Given the description of an element on the screen output the (x, y) to click on. 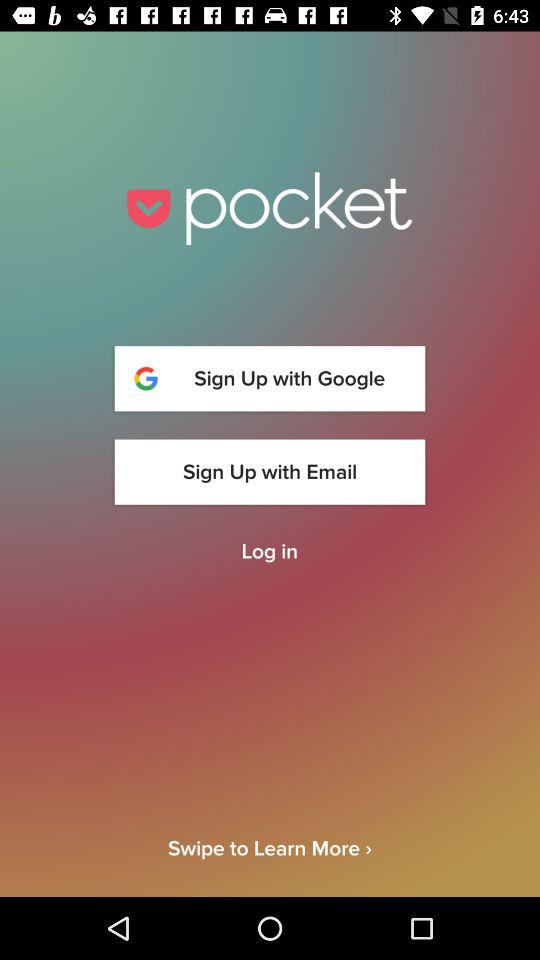
launch the item below sign up with icon (269, 551)
